Given the description of an element on the screen output the (x, y) to click on. 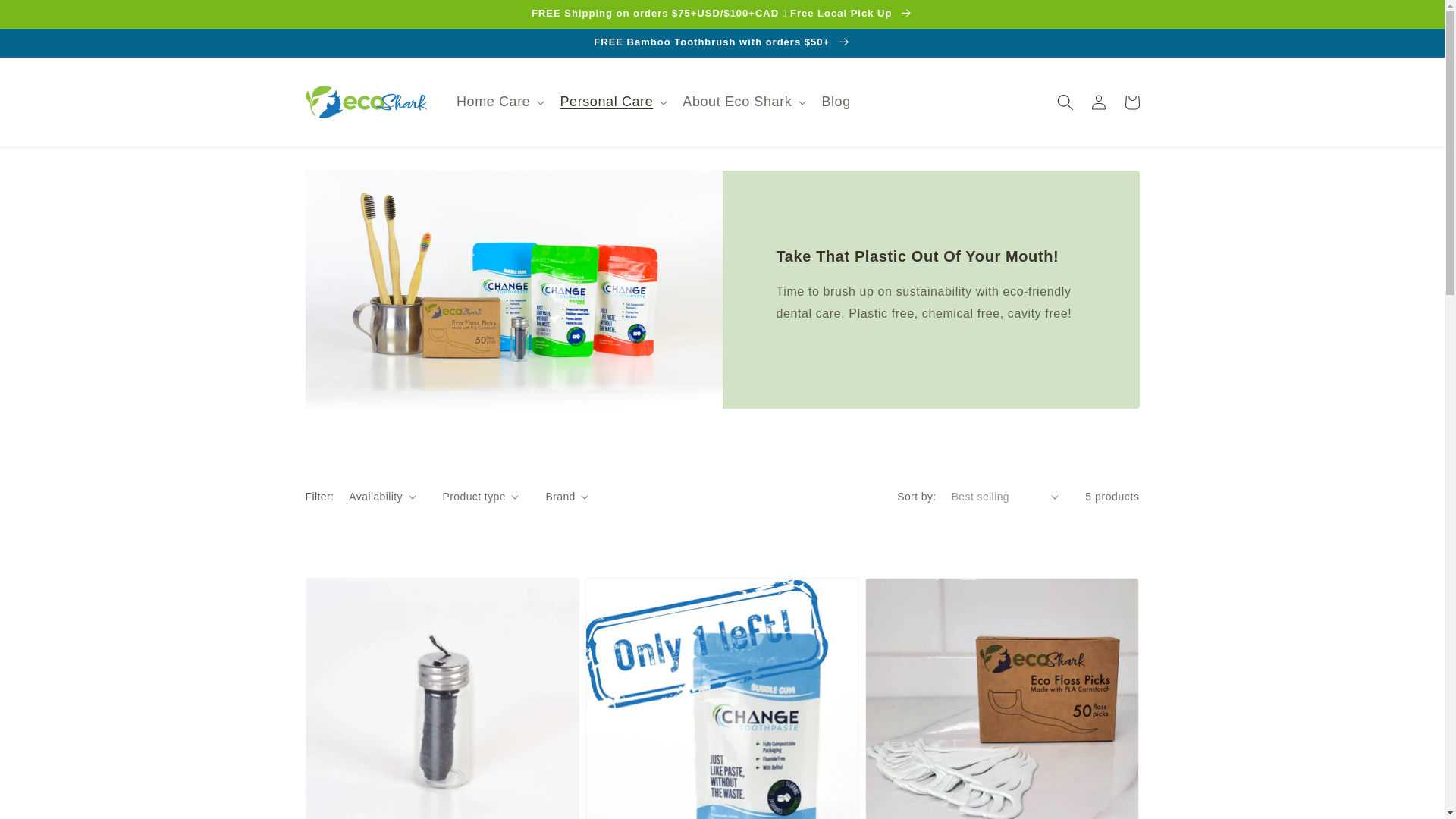
Skip to content (45, 17)
